Given the description of an element on the screen output the (x, y) to click on. 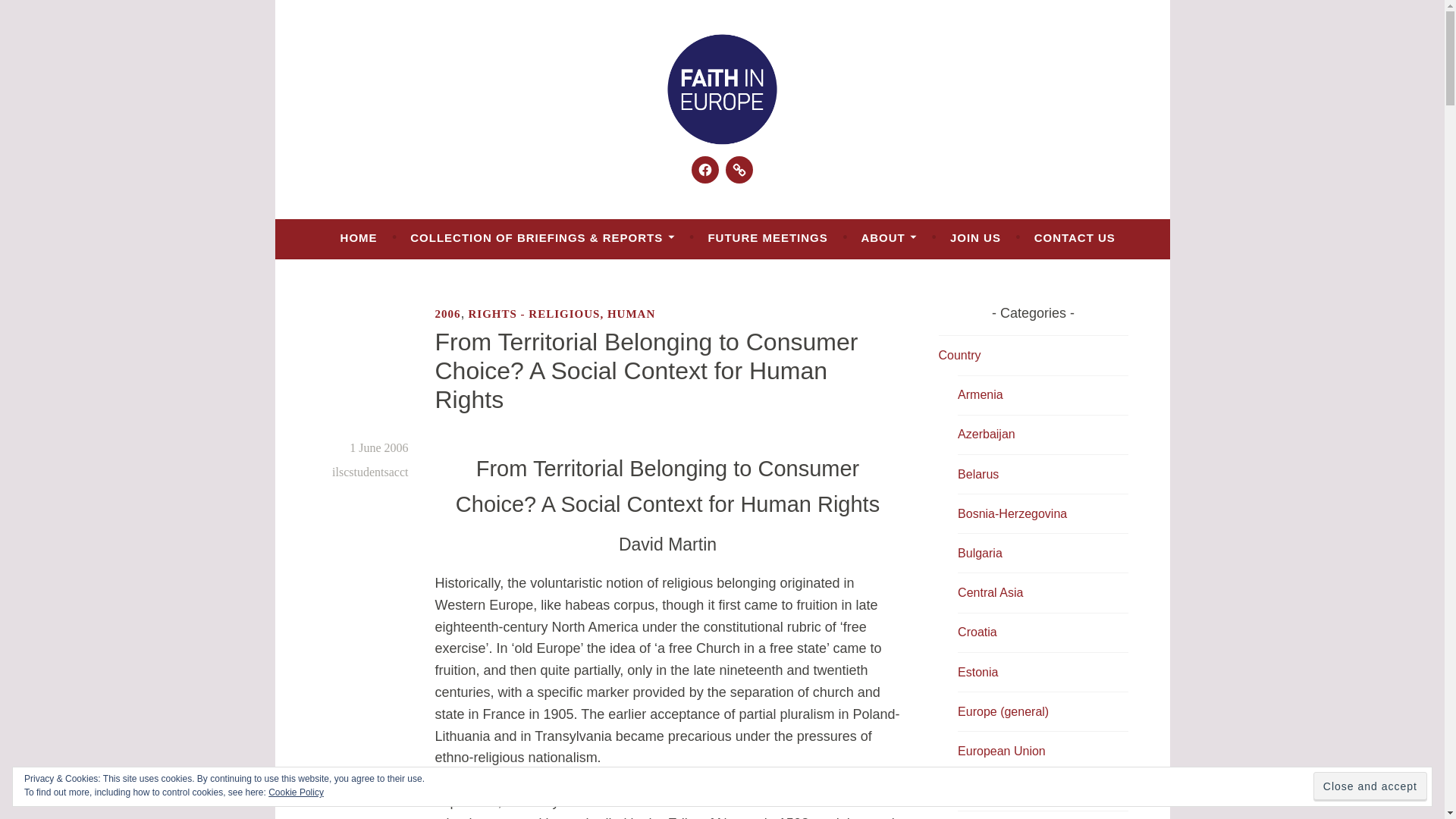
ABOUT (888, 237)
Facebook (705, 169)
Bosnia-Herzegovina (1012, 513)
CONTACT US (1074, 237)
Estonia (977, 671)
Close and accept (1369, 786)
Finland (977, 789)
Belarus (978, 473)
Azerbaijan (986, 433)
Croatia (977, 631)
